Given the description of an element on the screen output the (x, y) to click on. 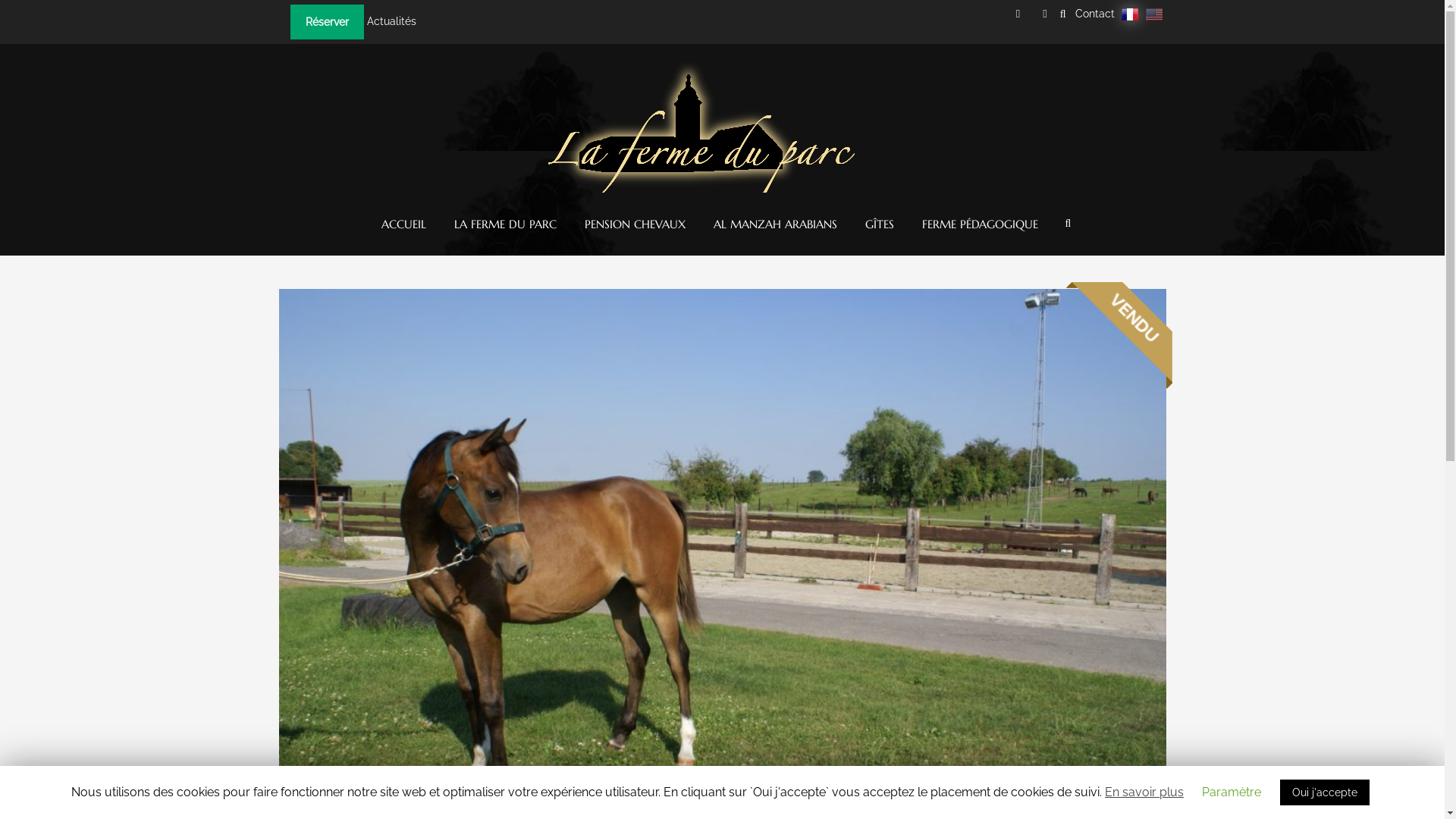
Contact Element type: text (1094, 13)
Oui j'accepte Element type: text (1324, 792)
AL MANZAH ARABIANS Element type: text (775, 223)
PENSION CHEVAUX Element type: text (635, 223)
LA FERME DU PARC Element type: text (505, 223)
ACCUEIL Element type: text (403, 223)
En savoir plus Element type: text (1143, 792)
